Given the description of an element on the screen output the (x, y) to click on. 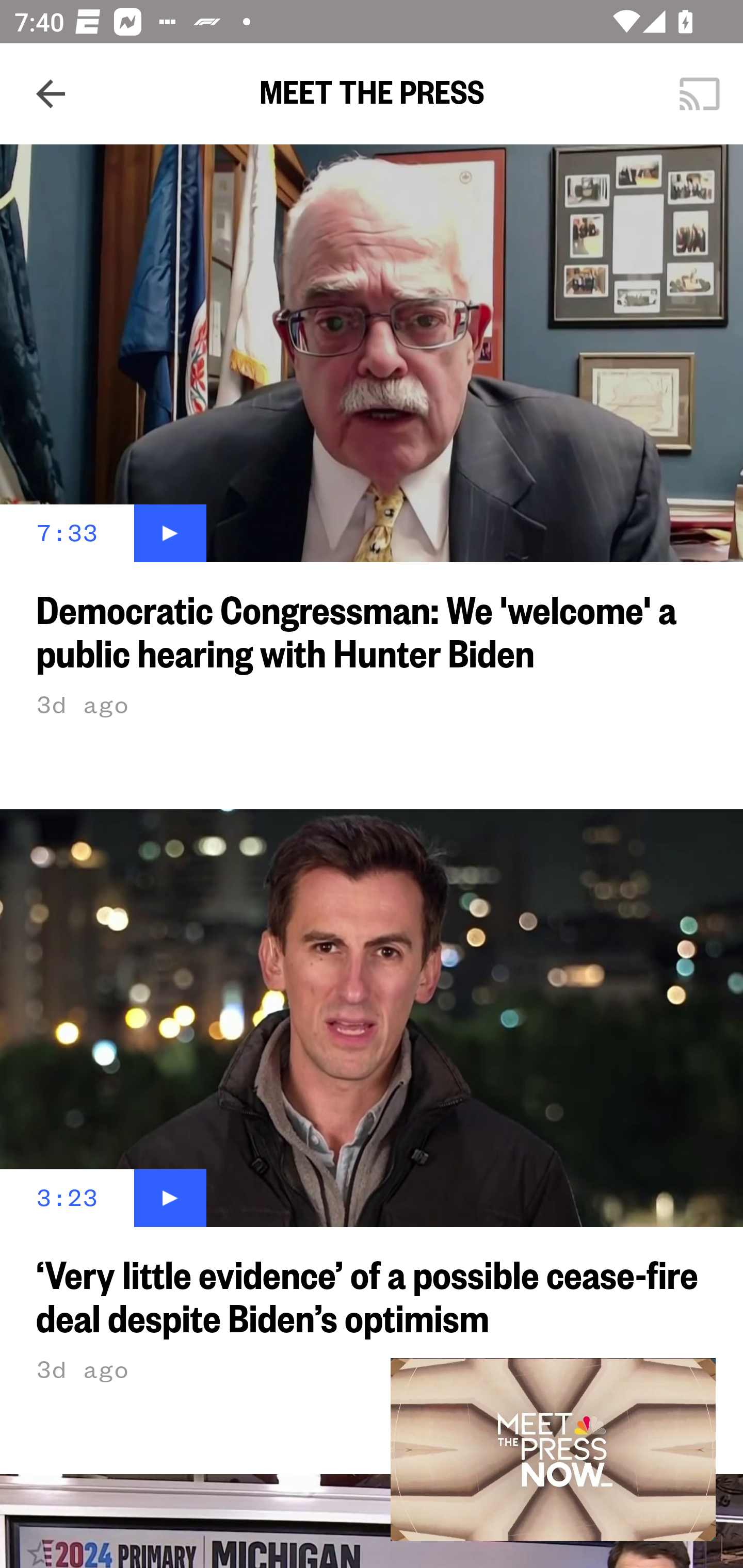
Navigate up (50, 93)
Cast. Disconnected (699, 93)
